Given the description of an element on the screen output the (x, y) to click on. 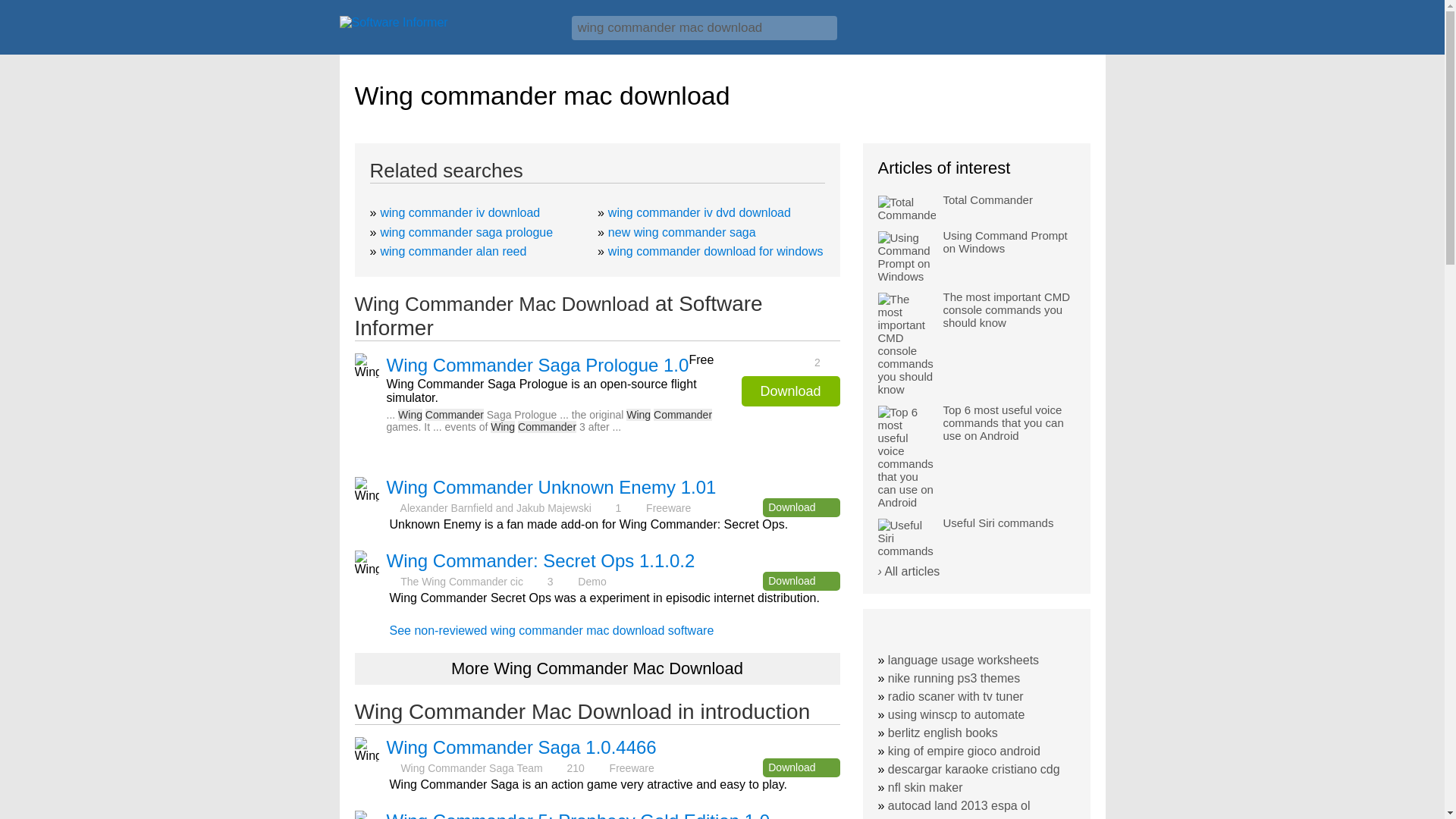
wing commander iv download (460, 212)
Windows (1070, 33)
Download (790, 390)
Wing Commander Saga Prologue 1.0 (537, 364)
Wing Commander Unknown Enemy 1.01 (551, 486)
wing commander download for windows (716, 250)
Wing Commander: Secret Ops 1.1.0.2 (541, 560)
Wing Commander Saga 1.0.4466 (521, 747)
wing commander saga prologue (466, 232)
Download (801, 767)
